Given the description of an element on the screen output the (x, y) to click on. 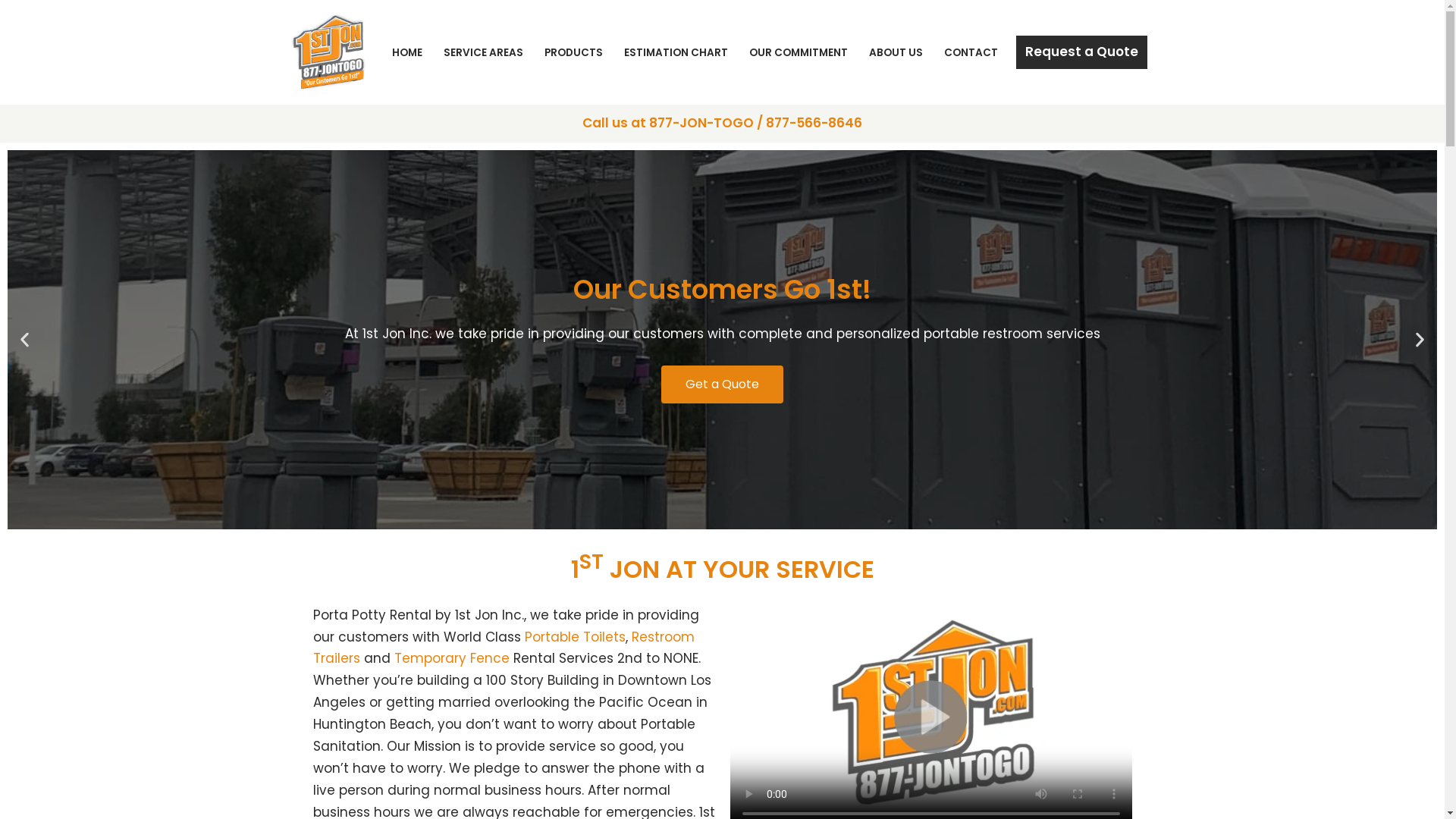
OUR COMMITMENT Element type: text (798, 51)
Temporary Fence Element type: text (451, 658)
877-JON-TOGO / 877-566-8646 Element type: text (755, 122)
SERVICE AREAS Element type: text (482, 51)
ABOUT US Element type: text (895, 51)
Skip to content Element type: text (11, 31)
CONTACT Element type: text (970, 51)
PRODUCTS Element type: text (573, 51)
Restroom Trailers Element type: text (502, 647)
HOME Element type: text (406, 51)
Portable Toilets Element type: text (574, 636)
Request a Quote Element type: text (1081, 51)
ESTIMATION CHART Element type: text (675, 51)
